Given the description of an element on the screen output the (x, y) to click on. 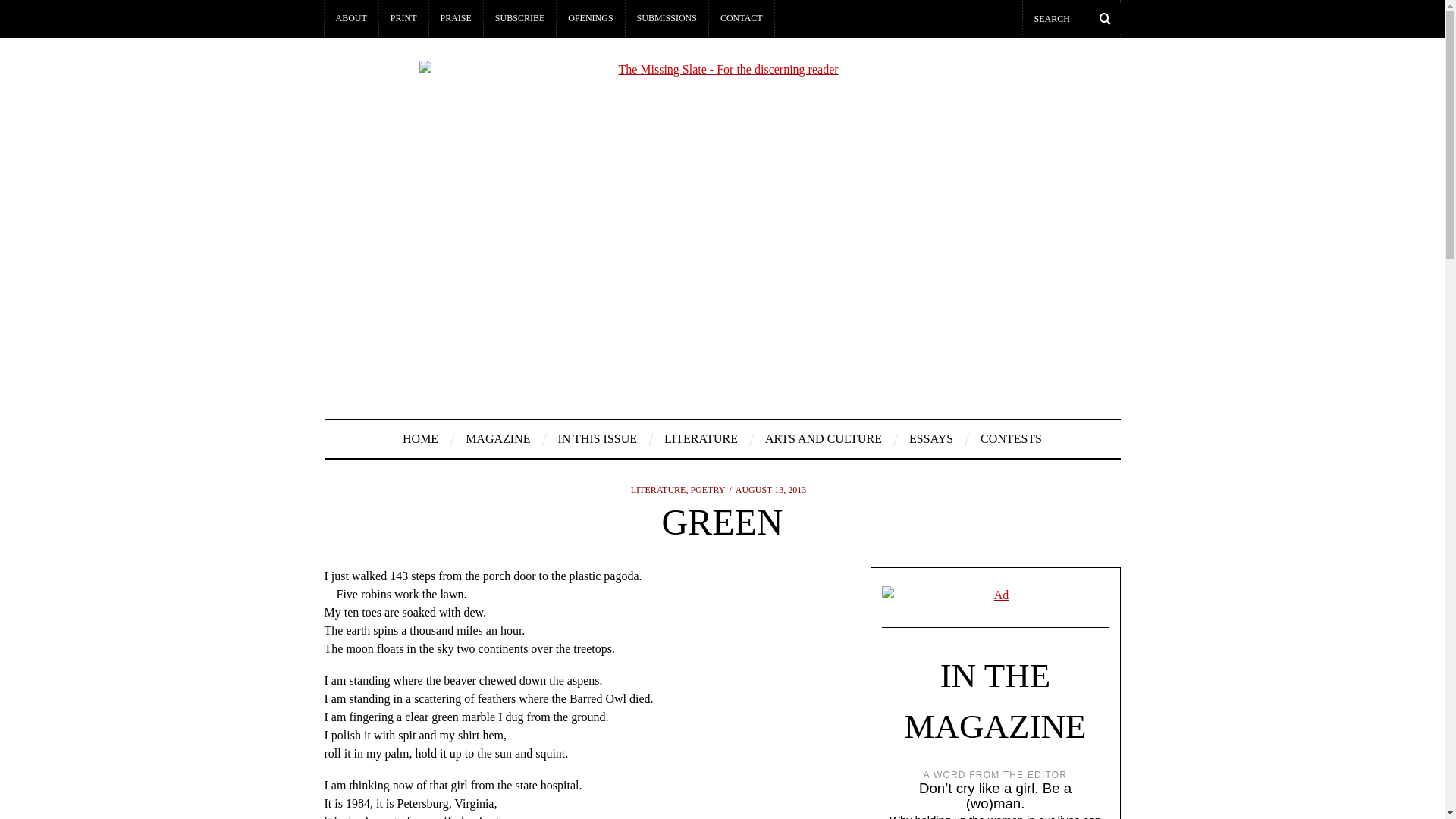
SUBSCRIBE (519, 18)
PRAISE (456, 18)
MAGAZINE (497, 438)
SUBMISSIONS (666, 18)
ESSAYS (930, 438)
LITERATURE (700, 438)
CONTACT (741, 18)
OPENINGS (590, 18)
ARTS AND CULTURE (823, 438)
ABOUT (351, 18)
